Given the description of an element on the screen output the (x, y) to click on. 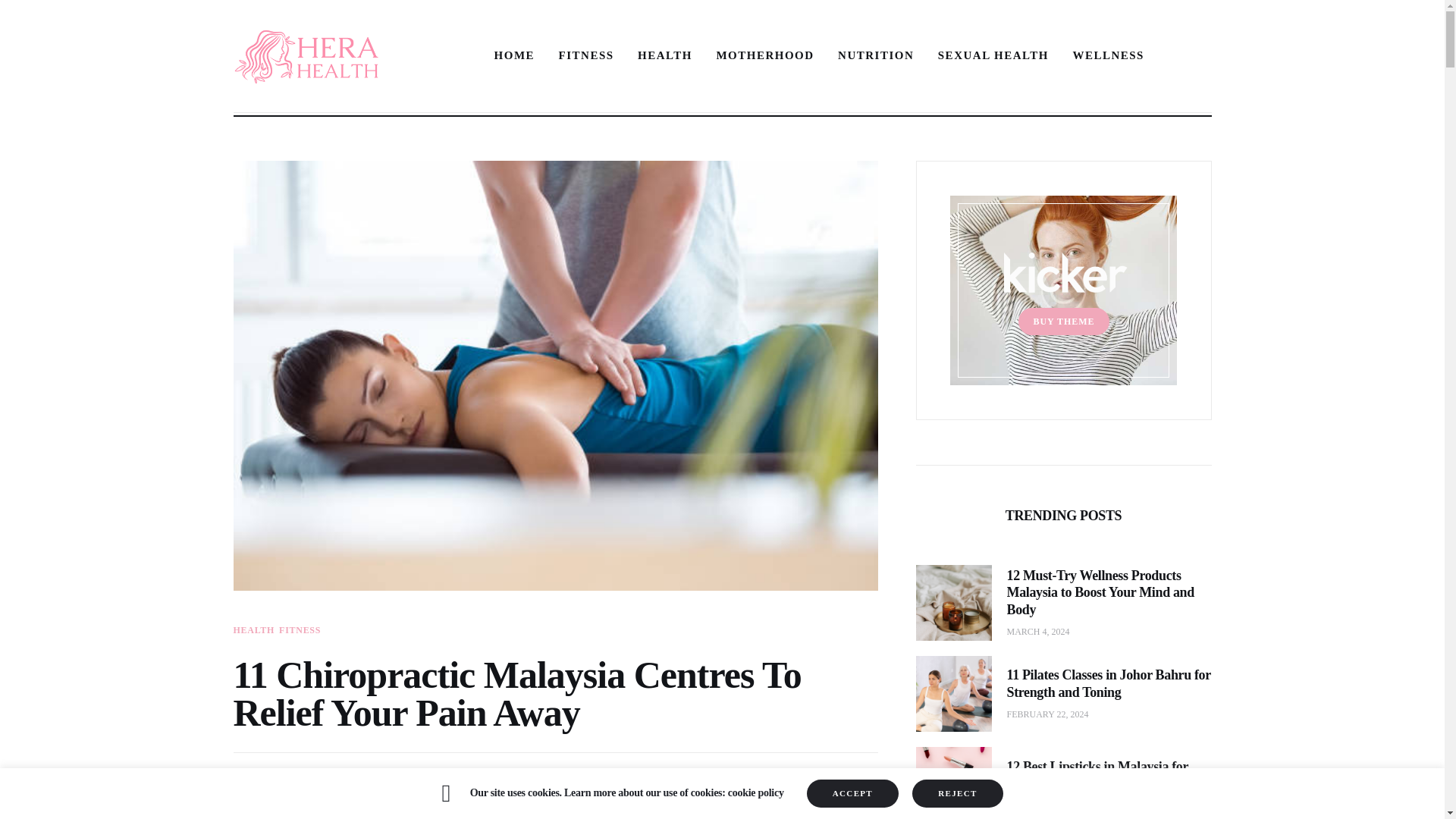
FITNESS (310, 783)
HOME (586, 55)
0COMMENTS (514, 55)
SEXUAL HEALTH (483, 783)
MOTHERHOOD (993, 55)
HEALTH (765, 55)
FITNESS (664, 55)
WELLNESS (299, 629)
HEALTH (1108, 55)
